Given the description of an element on the screen output the (x, y) to click on. 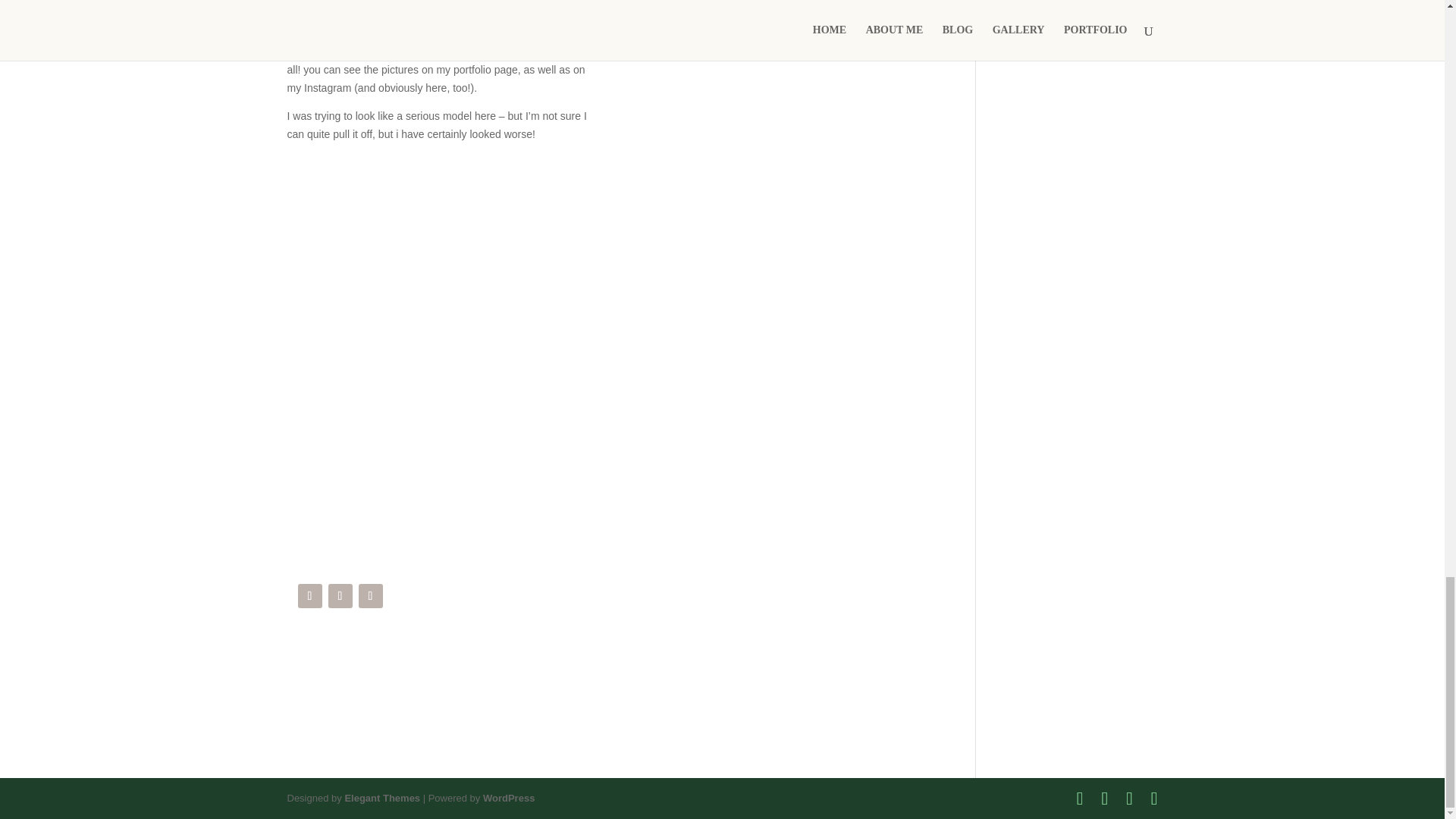
WordPress (508, 797)
Premium WordPress Themes (381, 797)
Elegant Themes (381, 797)
Follow on Pinterest (369, 595)
Follow on Instagram (309, 595)
Follow on Youtube (339, 595)
